Given the description of an element on the screen output the (x, y) to click on. 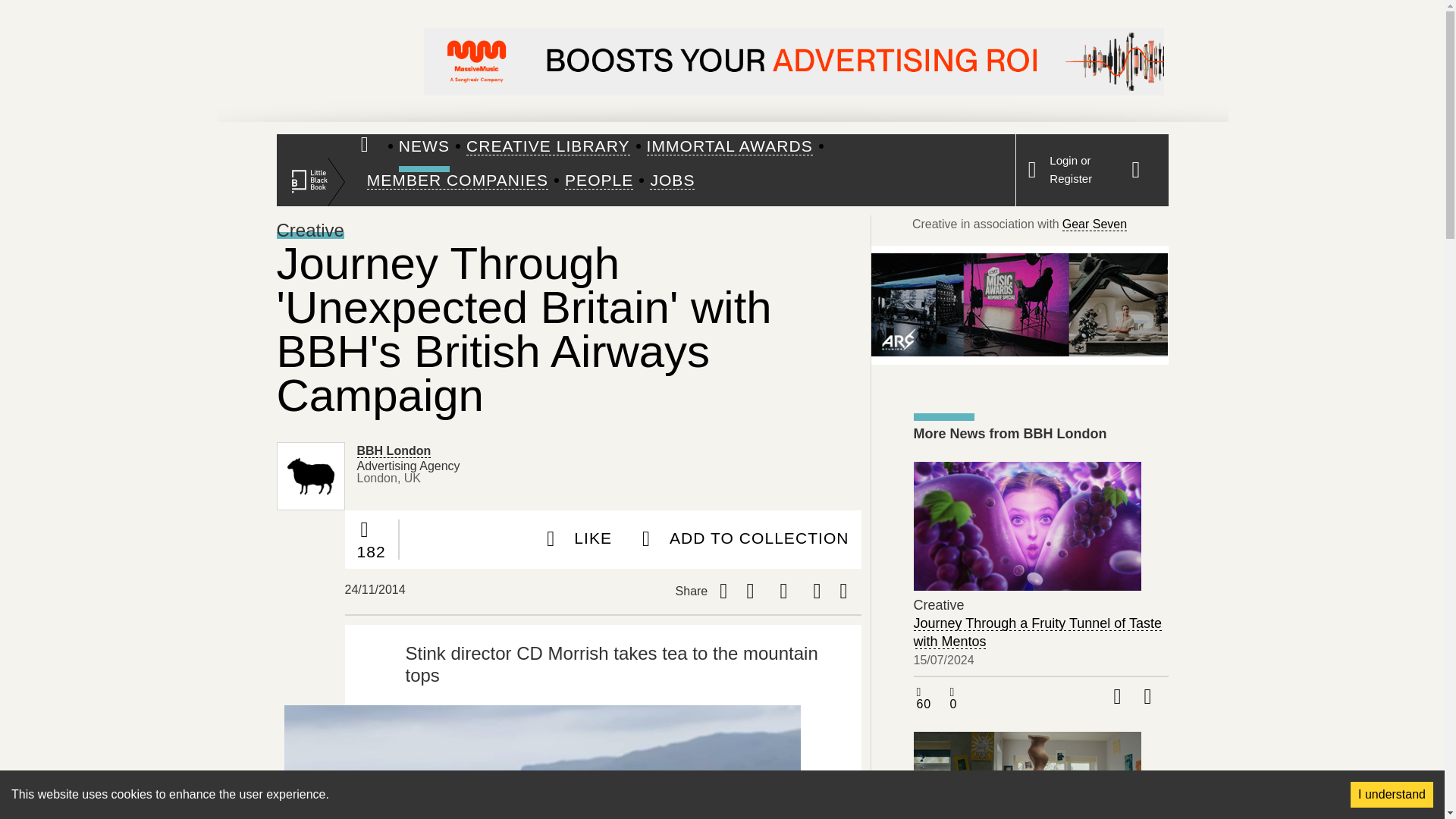
JOBS (671, 180)
CREATIVE LIBRARY (547, 147)
Gear Seven (1094, 223)
Login or Register (1070, 169)
PEOPLE (598, 180)
Creative (309, 230)
IMMORTAL AWARDS (729, 147)
MEMBER COMPANIES (457, 180)
NEWS (423, 147)
BBH London (393, 451)
